Given the description of an element on the screen output the (x, y) to click on. 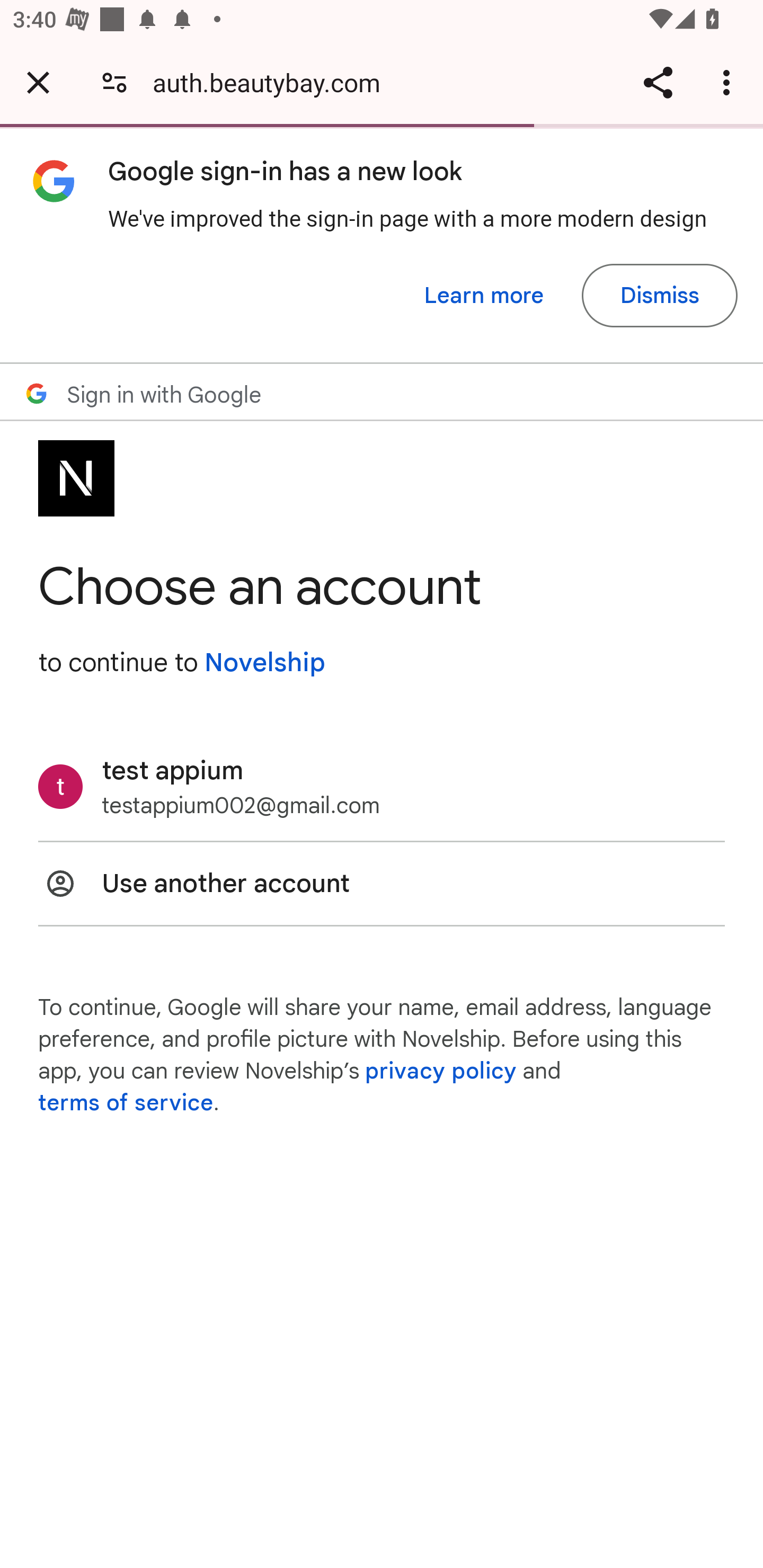
Close tab (38, 82)
Share (657, 82)
Customize and control Google Chrome (729, 82)
Connection is secure (114, 81)
auth.beautybay.com (272, 81)
